Given the description of an element on the screen output the (x, y) to click on. 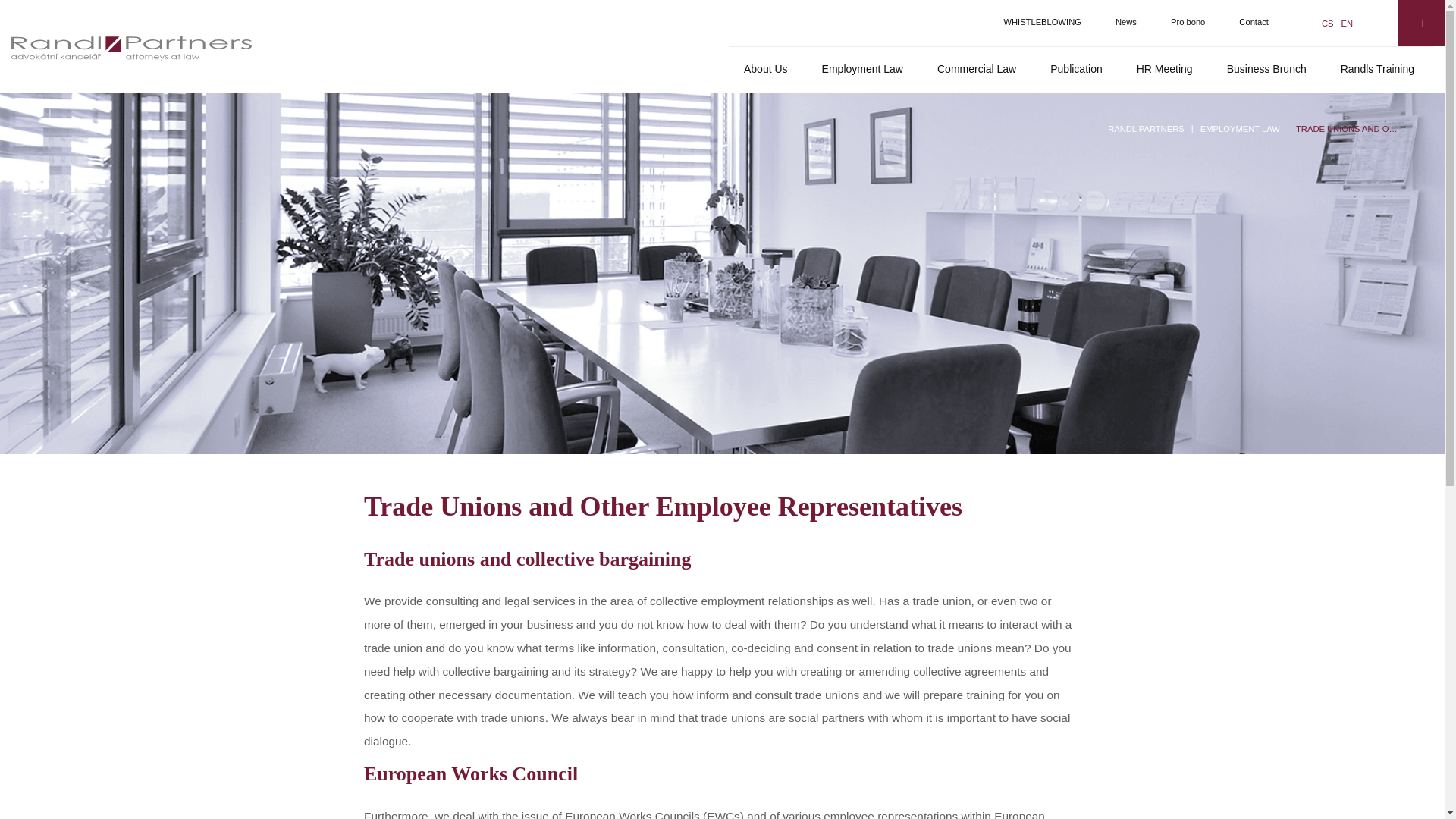
Employment Law (862, 68)
WHISTLEBLOWING (1042, 22)
CS (1327, 22)
Pro bono (1188, 22)
Commercial Law (975, 68)
About Us (766, 68)
EN (1346, 22)
Contact (1254, 22)
Publication (1076, 68)
Randls Training (1376, 68)
News (1125, 22)
RANDL PARTNERS (1146, 128)
Business Brunch (1266, 68)
HR Meeting (1164, 68)
EMPLOYMENT LAW (1239, 128)
